Given the description of an element on the screen output the (x, y) to click on. 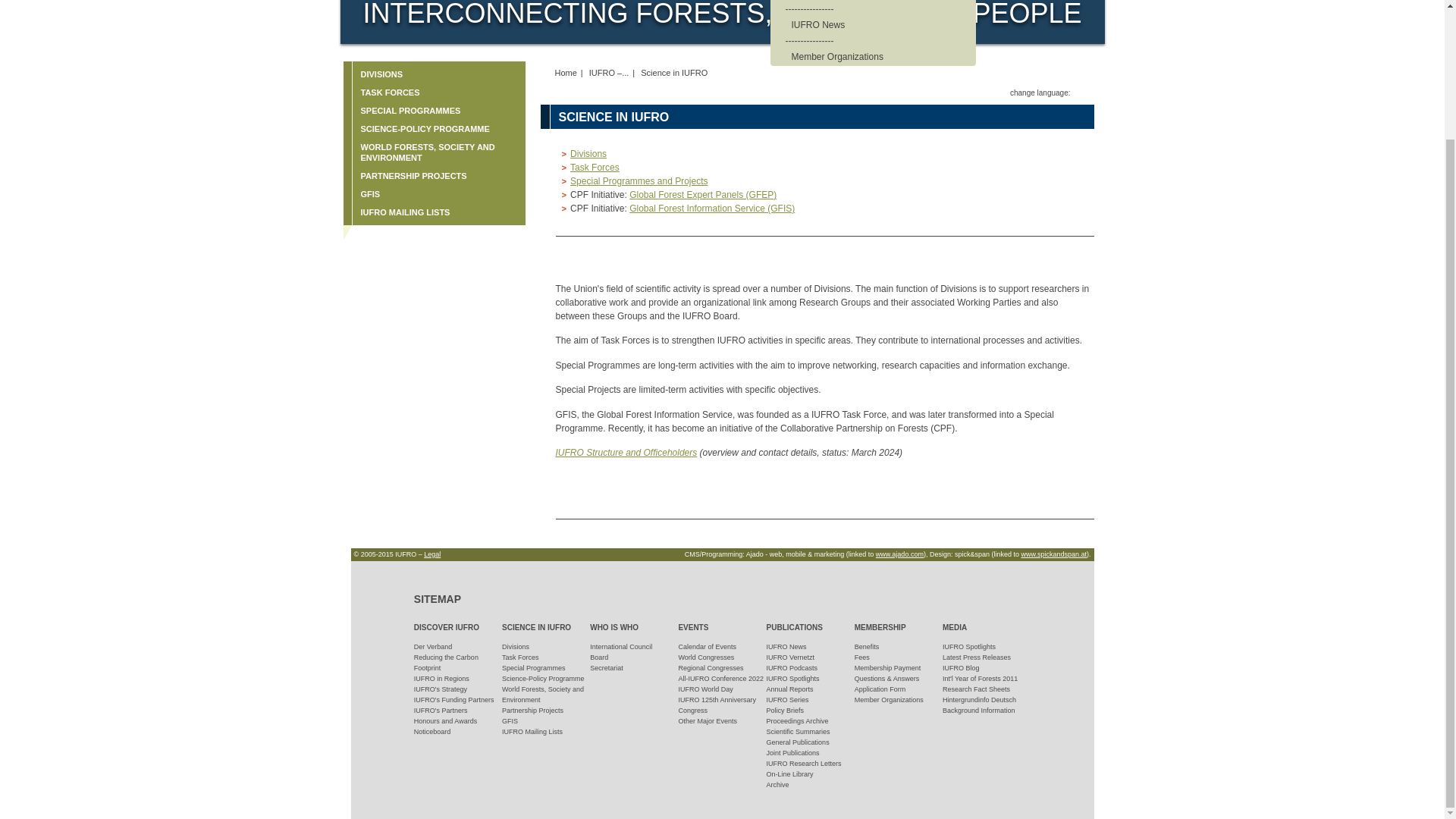
Info about IUFRO RSS Feeds (941, 72)
IUFRO Blog (969, 72)
IUFRO on Twitter (1027, 72)
IUFRO on Facebook (1056, 72)
Task Forces (880, 1)
IUFRO Youtube Channel (998, 72)
instagram (1085, 72)
Send an E-Mail to IUFRO Headquarters (900, 78)
IUFRO News (880, 24)
Member Organizations (880, 56)
